Given the description of an element on the screen output the (x, y) to click on. 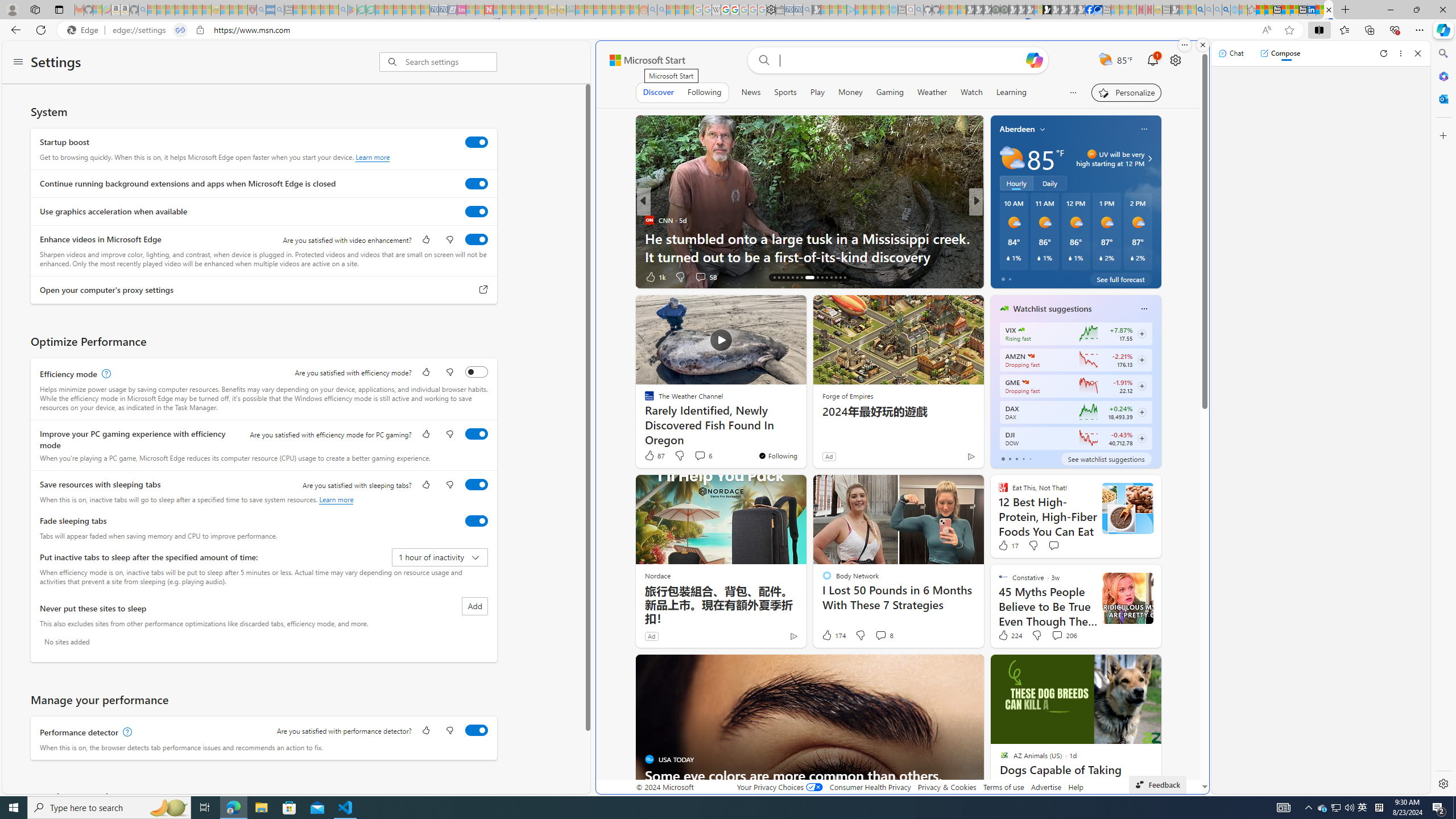
AutomationID: tab-28 (835, 277)
More options (1401, 53)
LinkedIn (1311, 9)
Tabs in split screen (180, 29)
Forge of Empires (847, 395)
View comments 21 Comment (1054, 276)
GAMESTOP CORP. (1025, 381)
